Given the description of an element on the screen output the (x, y) to click on. 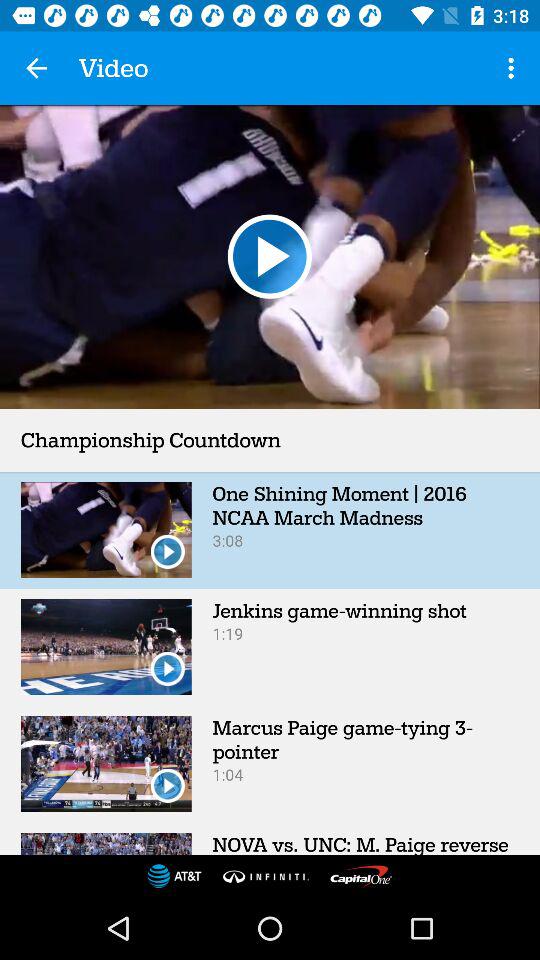
launch the icon next to the video icon (36, 68)
